Given the description of an element on the screen output the (x, y) to click on. 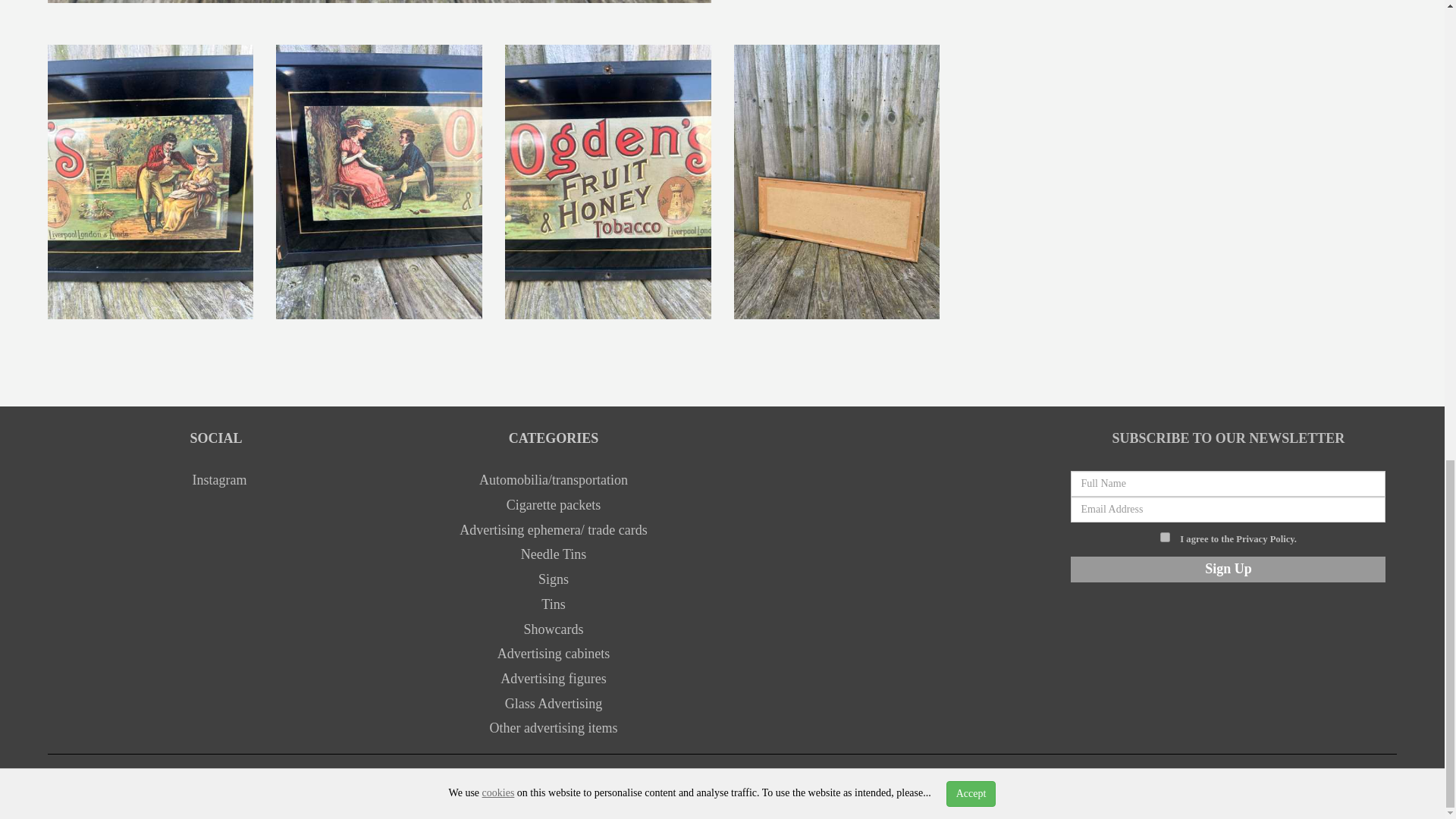
on (1165, 537)
Showcards (553, 629)
Glass Advertising (553, 703)
  Instagram (216, 479)
Advertising figures (552, 678)
Advertising cabinets (553, 653)
Other advertising items (553, 727)
Cigarette packets (552, 504)
Sign Up (1228, 569)
Needle Tins (553, 554)
Privacy Policy (1265, 538)
Signs (553, 579)
Tins (552, 604)
